Given the description of an element on the screen output the (x, y) to click on. 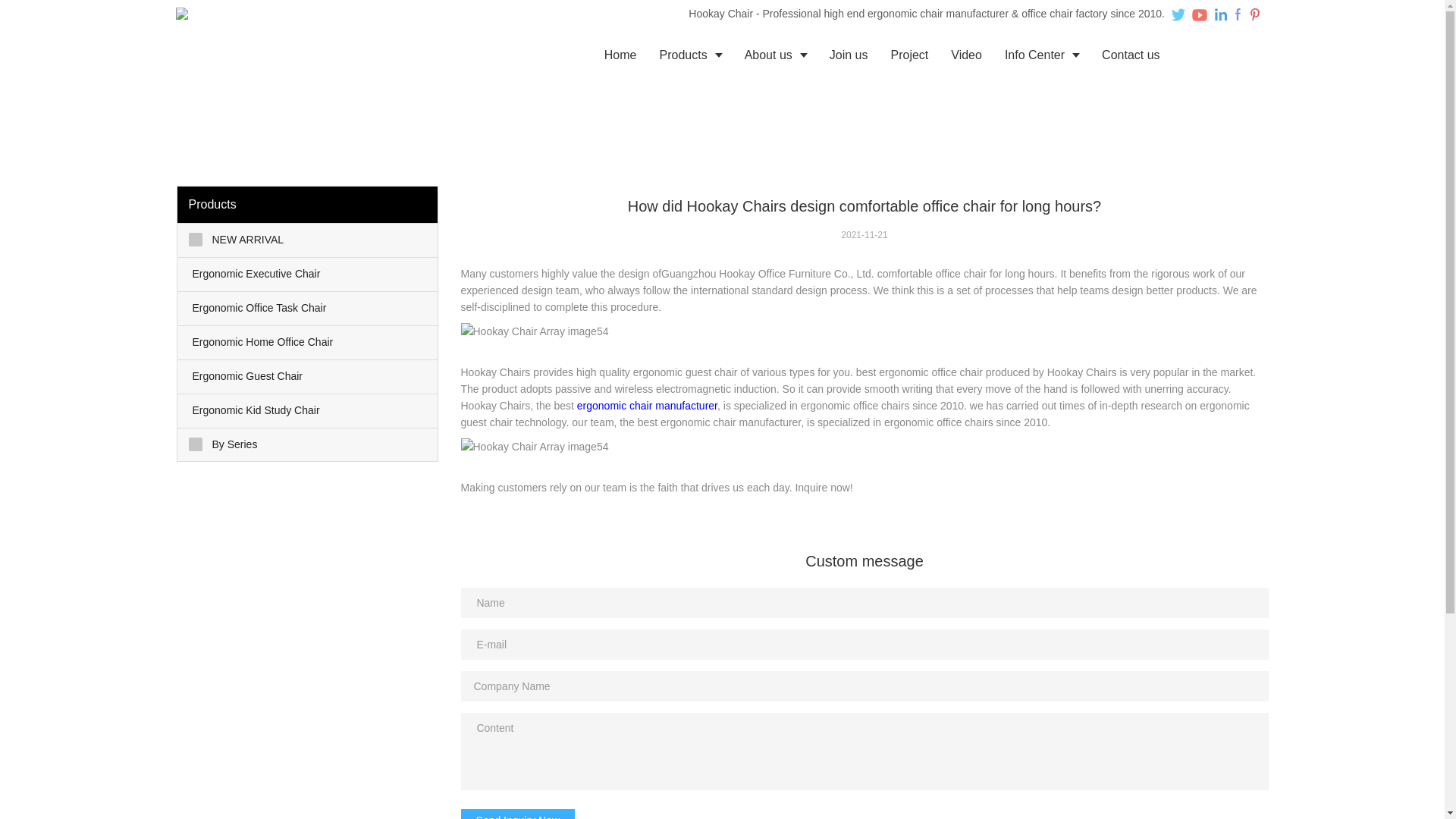
Ergonomic Home Office Chair (307, 342)
Contact us (1130, 55)
About us (775, 55)
Ergonomic Office Task Chair (307, 308)
Project (909, 55)
Video (965, 55)
NEW ARRIVAL (307, 240)
Info Center (1041, 55)
Products (689, 55)
Home (619, 55)
Join us (848, 55)
Ergonomic Executive Chair (307, 274)
